Given the description of an element on the screen output the (x, y) to click on. 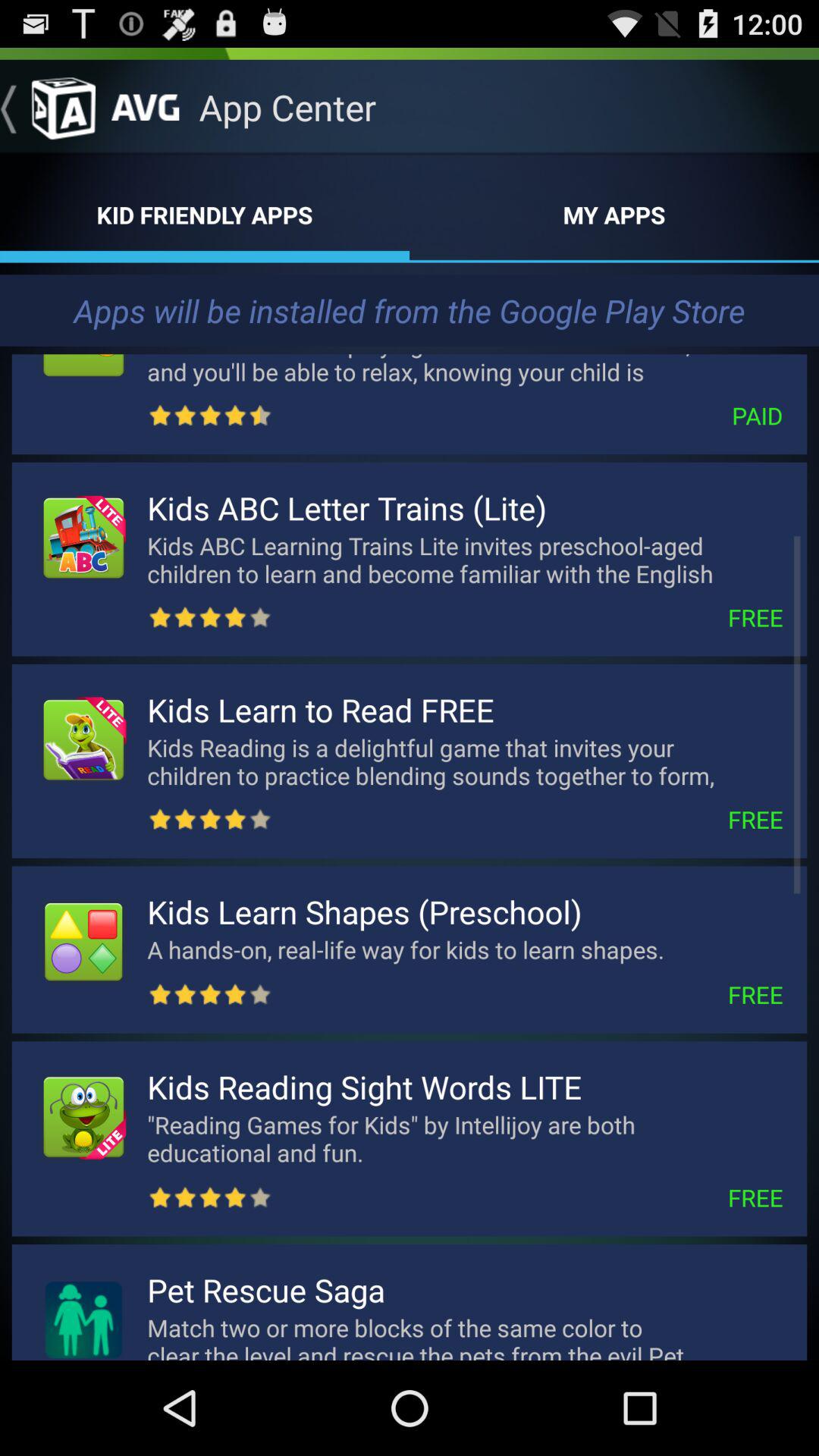
select the app below your child will app (527, 415)
